Given the description of an element on the screen output the (x, y) to click on. 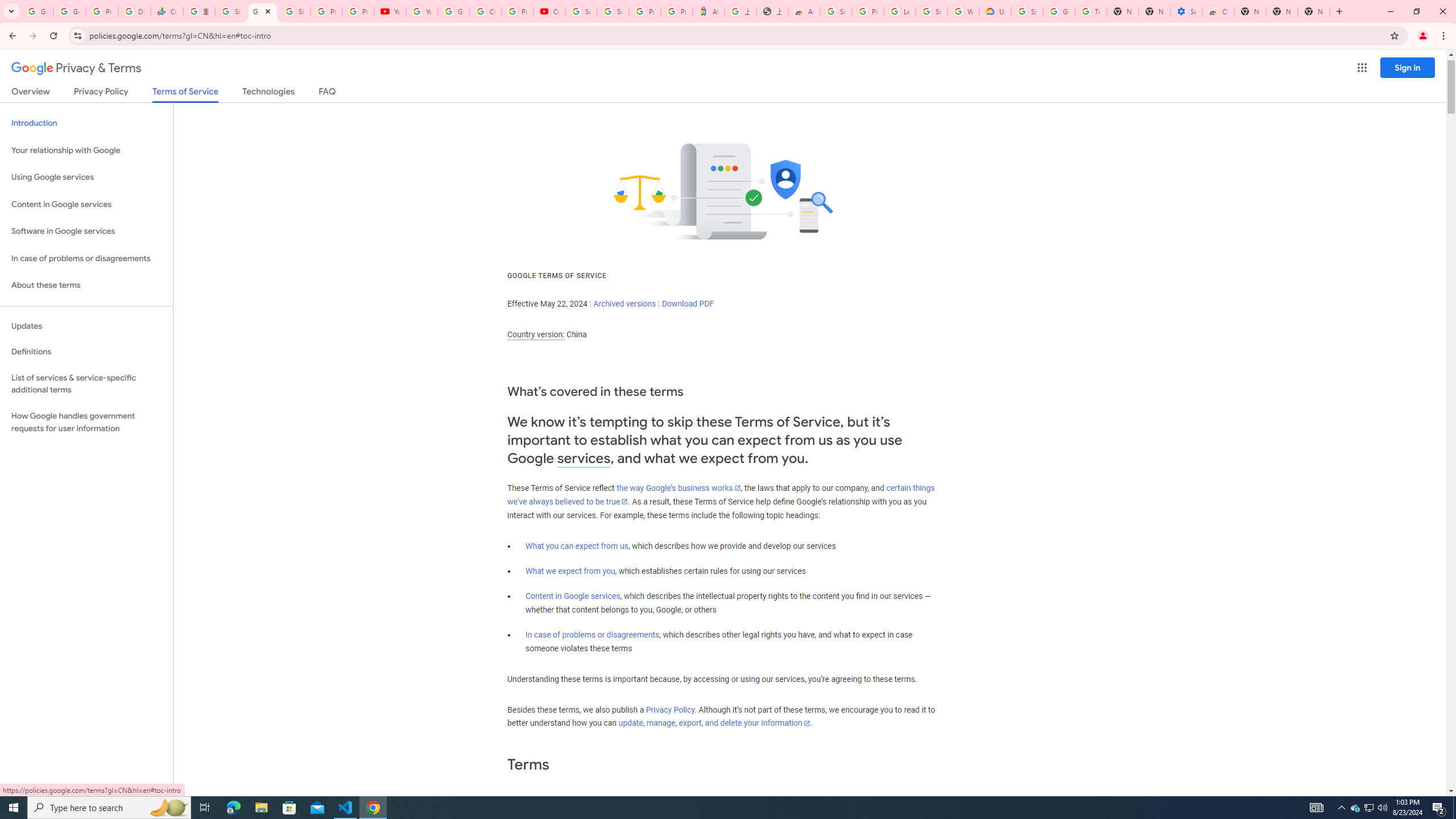
Turn cookies on or off - Computer - Google Account Help (1091, 11)
Download PDF (687, 303)
Software in Google services (86, 230)
Google Account Help (1059, 11)
How Google handles government requests for user information (86, 422)
